Given the description of an element on the screen output the (x, y) to click on. 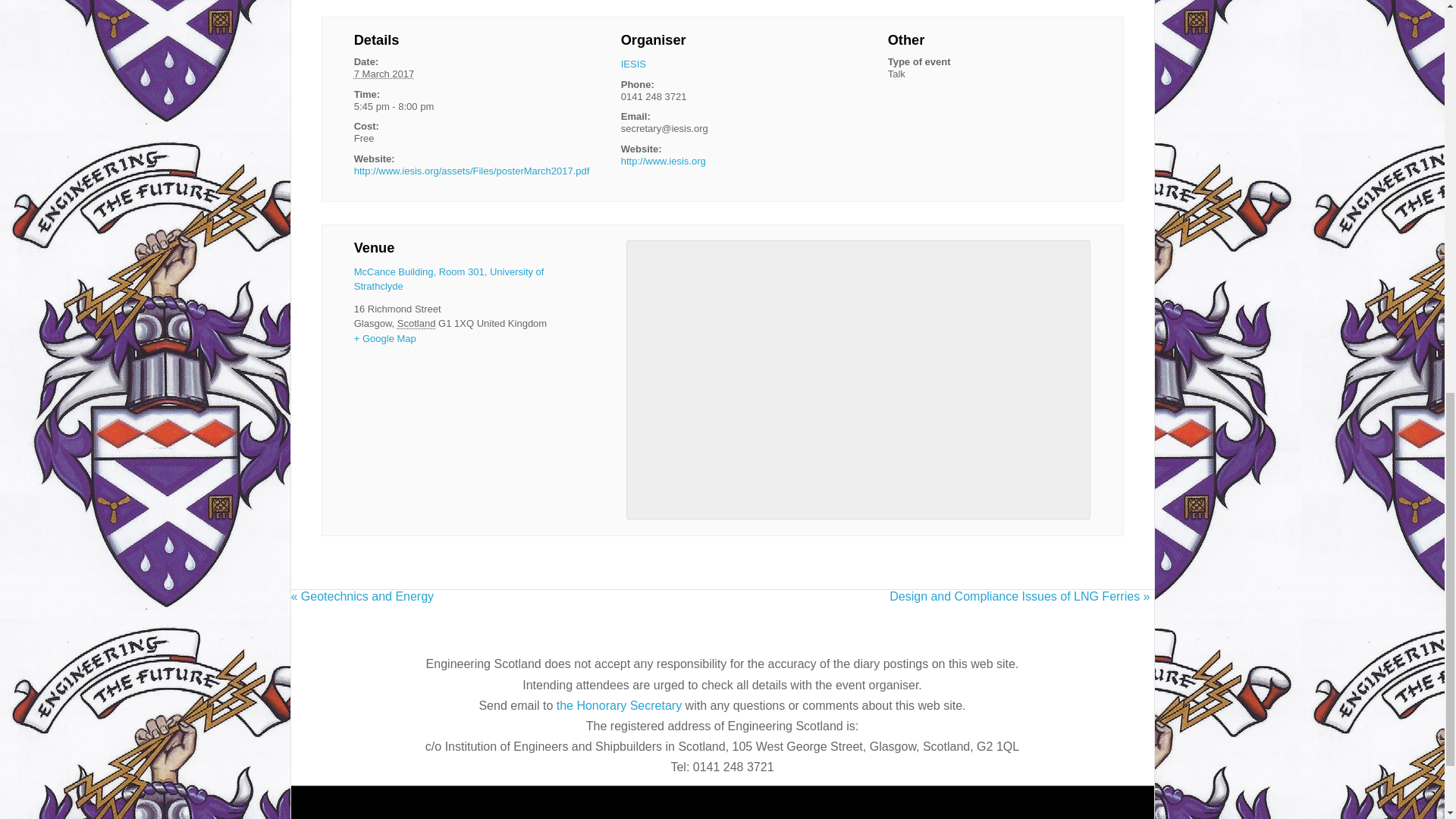
the Honorary Secretary (620, 705)
McCance Building, Room 301, University of Strathclyde (448, 279)
2017-03-07 (455, 106)
IESIS (633, 63)
2017-03-07 (383, 73)
Scotland (416, 323)
Click to view a Google Map (384, 337)
IESIS (633, 63)
